Given the description of an element on the screen output the (x, y) to click on. 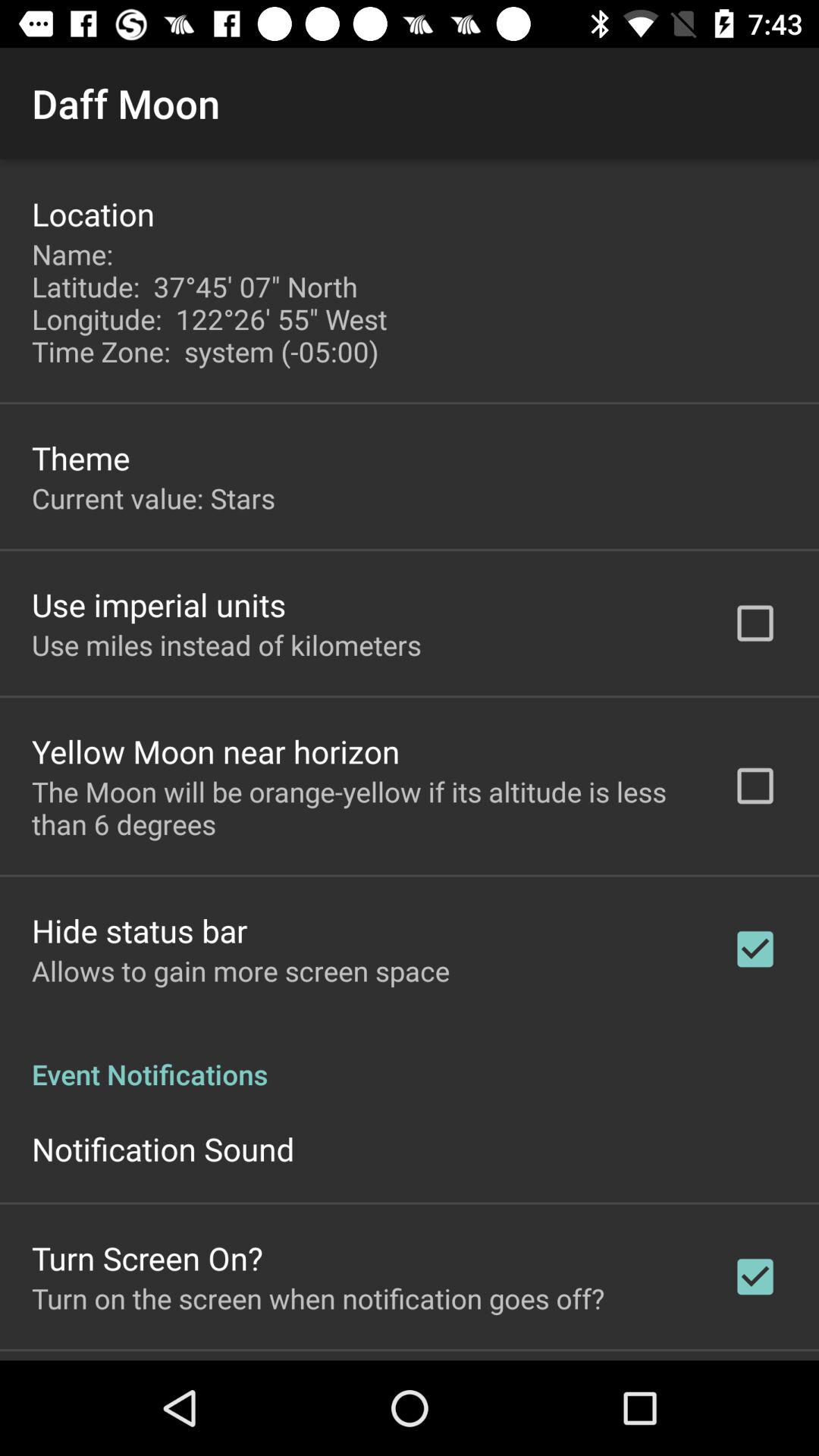
jump until the notification sound (162, 1148)
